Given the description of an element on the screen output the (x, y) to click on. 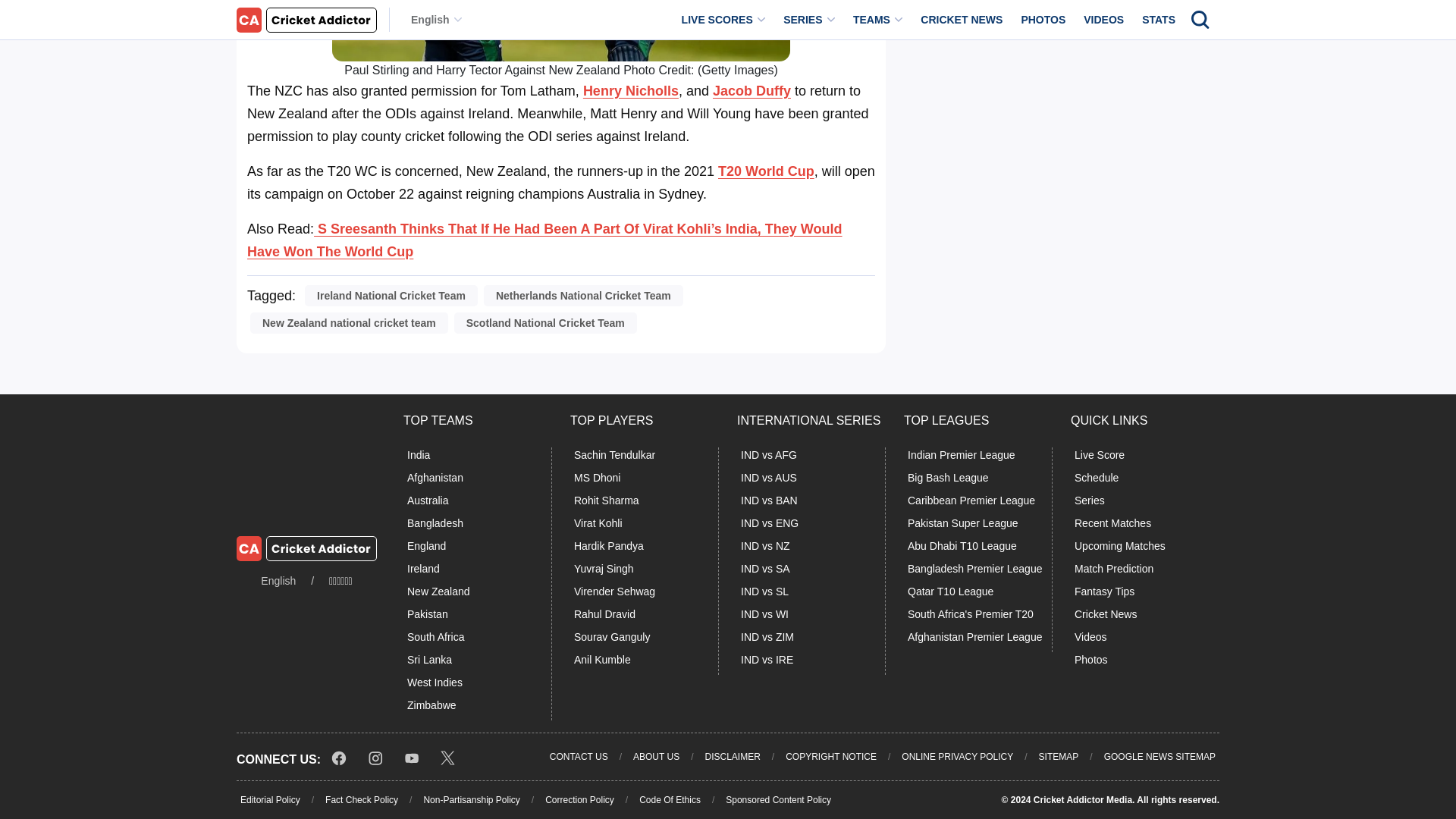
T20 World Cup (765, 171)
Jacob Duffy (751, 90)
Henry Nicholls (630, 90)
